Given the description of an element on the screen output the (x, y) to click on. 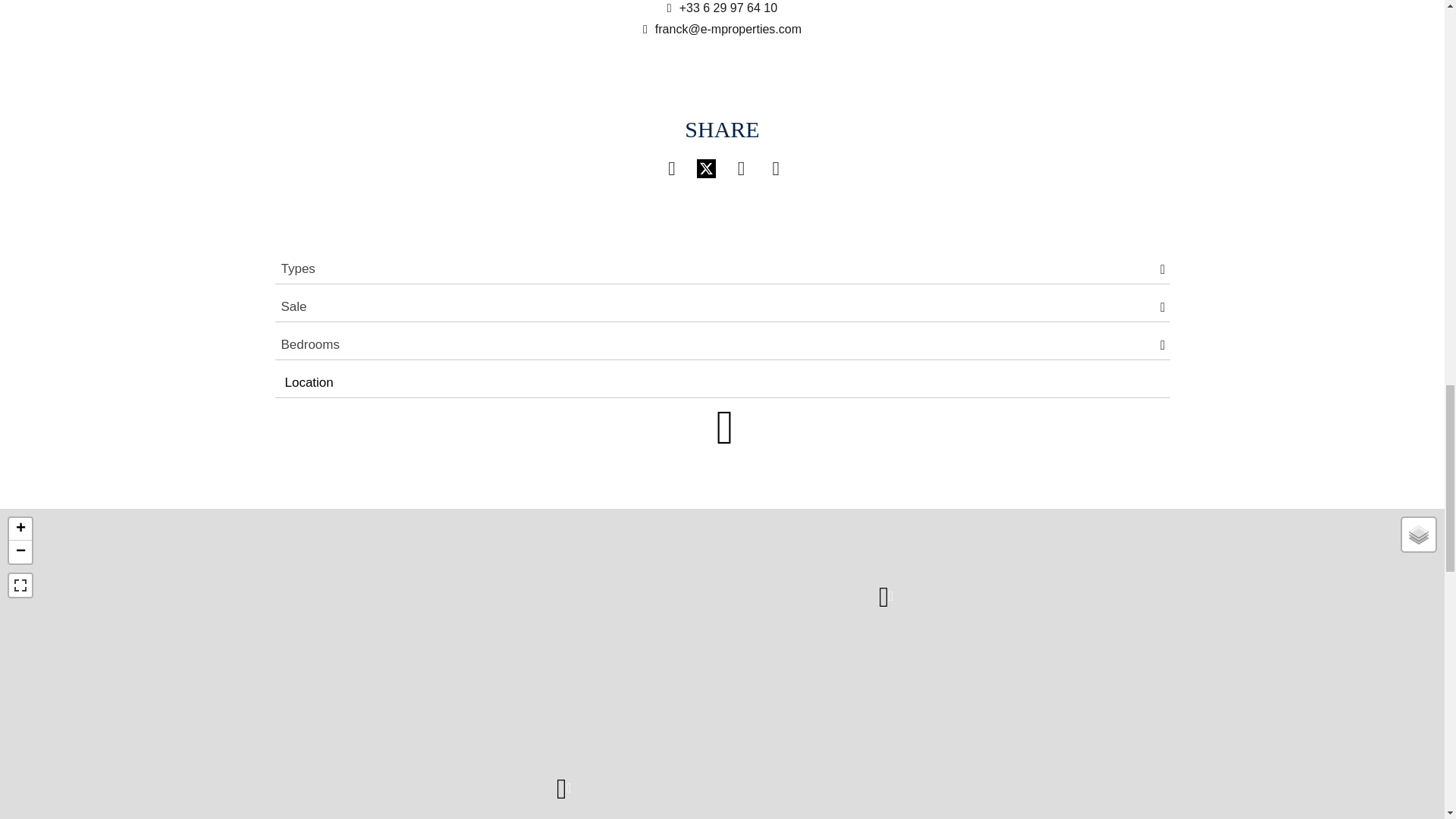
Bedrooms (722, 345)
Zoom in (20, 528)
View Fullscreen (20, 585)
Layers (1418, 534)
Sale (722, 306)
Types (722, 268)
Zoom out (20, 551)
